Given the description of an element on the screen output the (x, y) to click on. 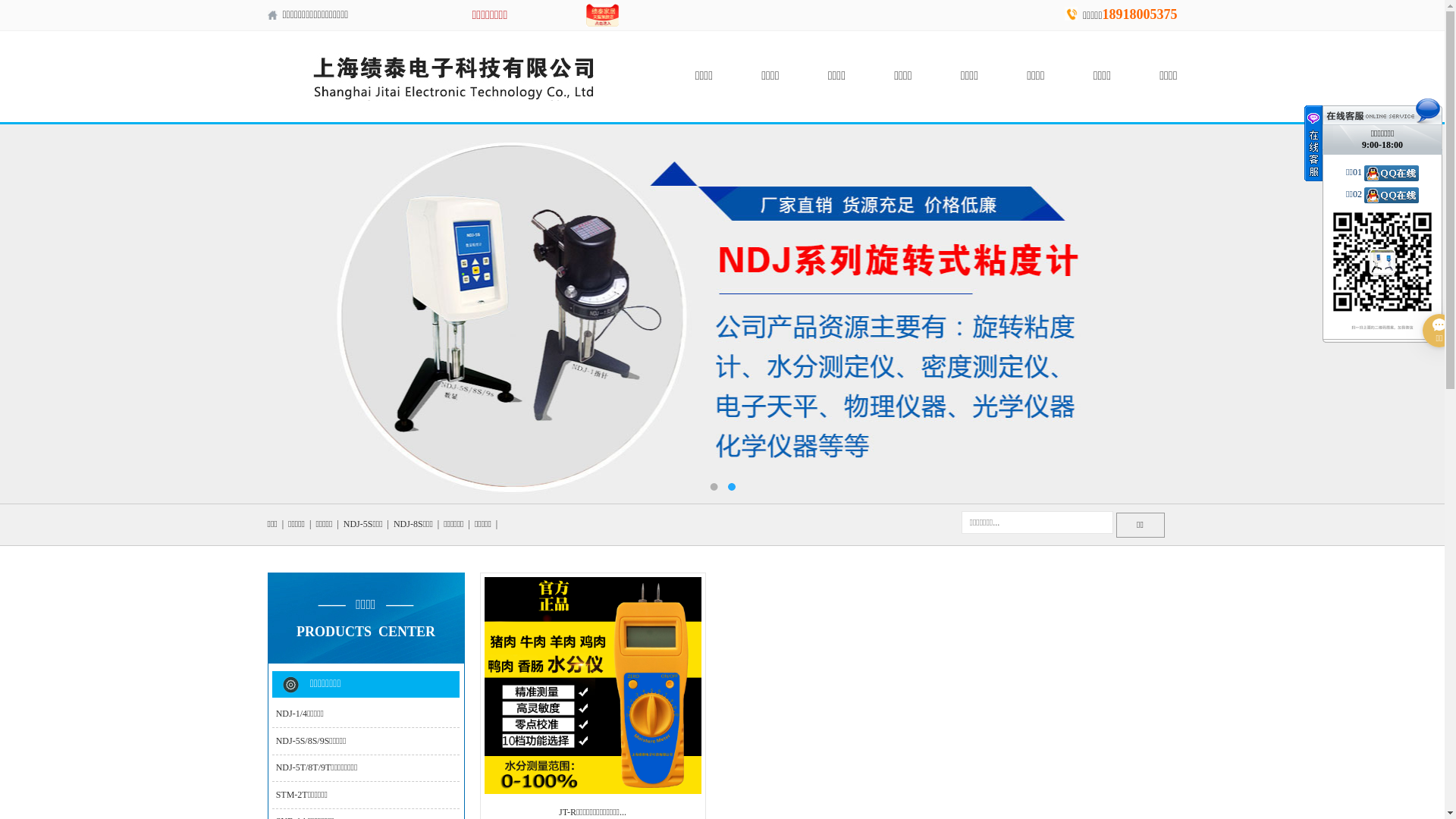
1 Element type: text (713, 486)
2 Element type: text (730, 486)
